Given the description of an element on the screen output the (x, y) to click on. 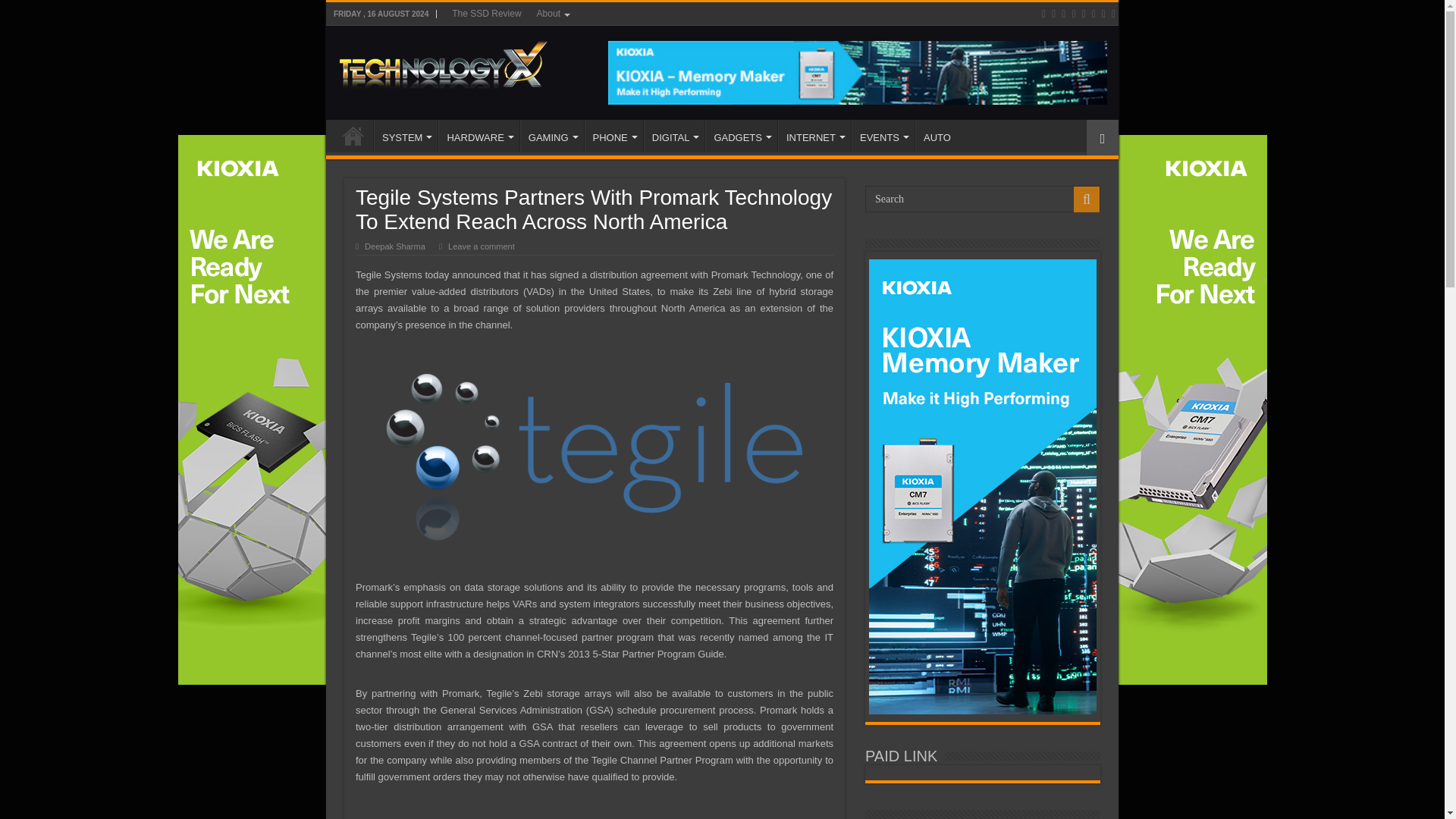
The SSD Review (486, 13)
About (552, 13)
SYSTEM (406, 135)
Home (352, 135)
Search (982, 198)
